Given the description of an element on the screen output the (x, y) to click on. 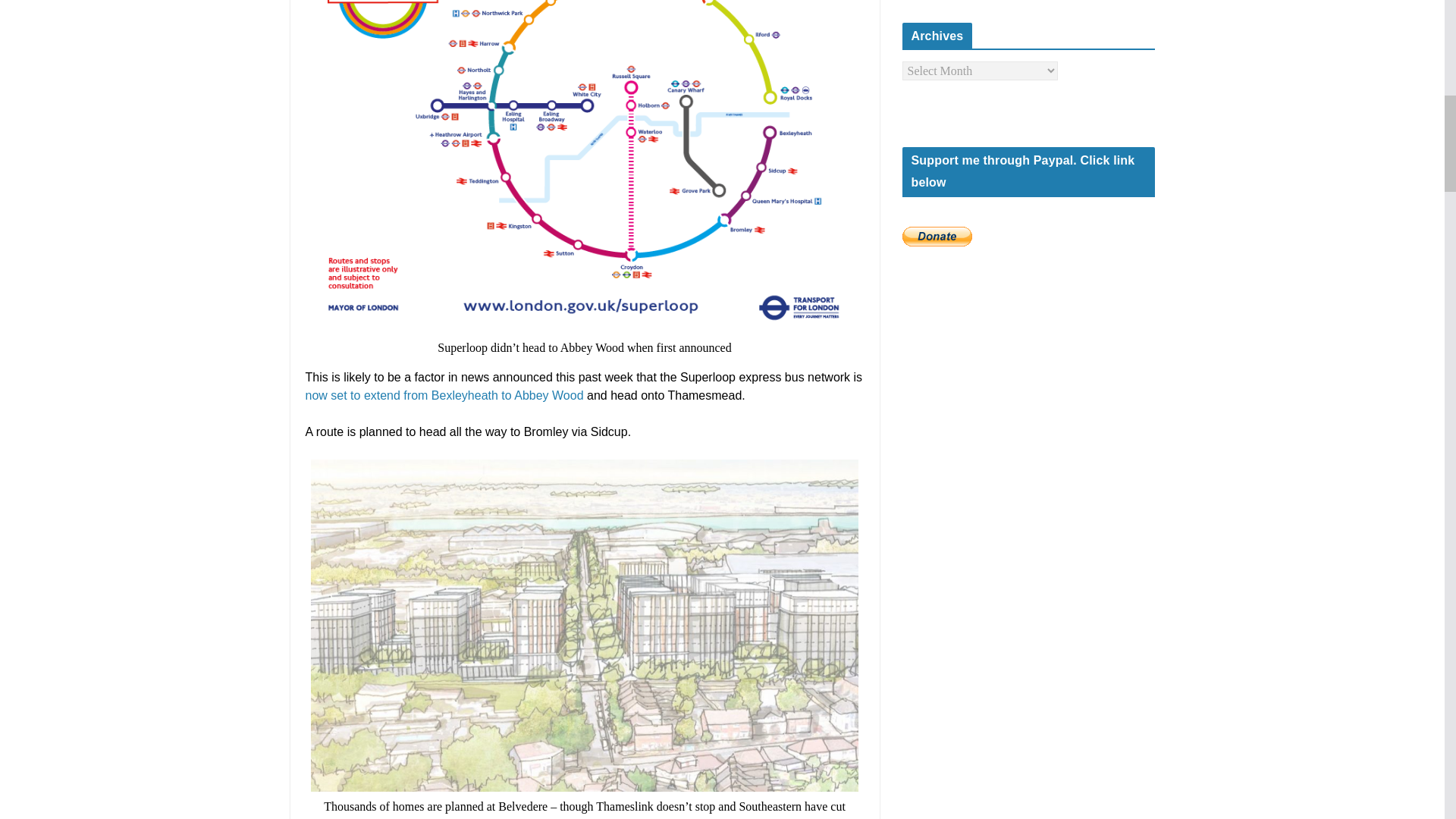
now set to extend from Bexleyheath to Abbey Wood (443, 395)
